Given the description of an element on the screen output the (x, y) to click on. 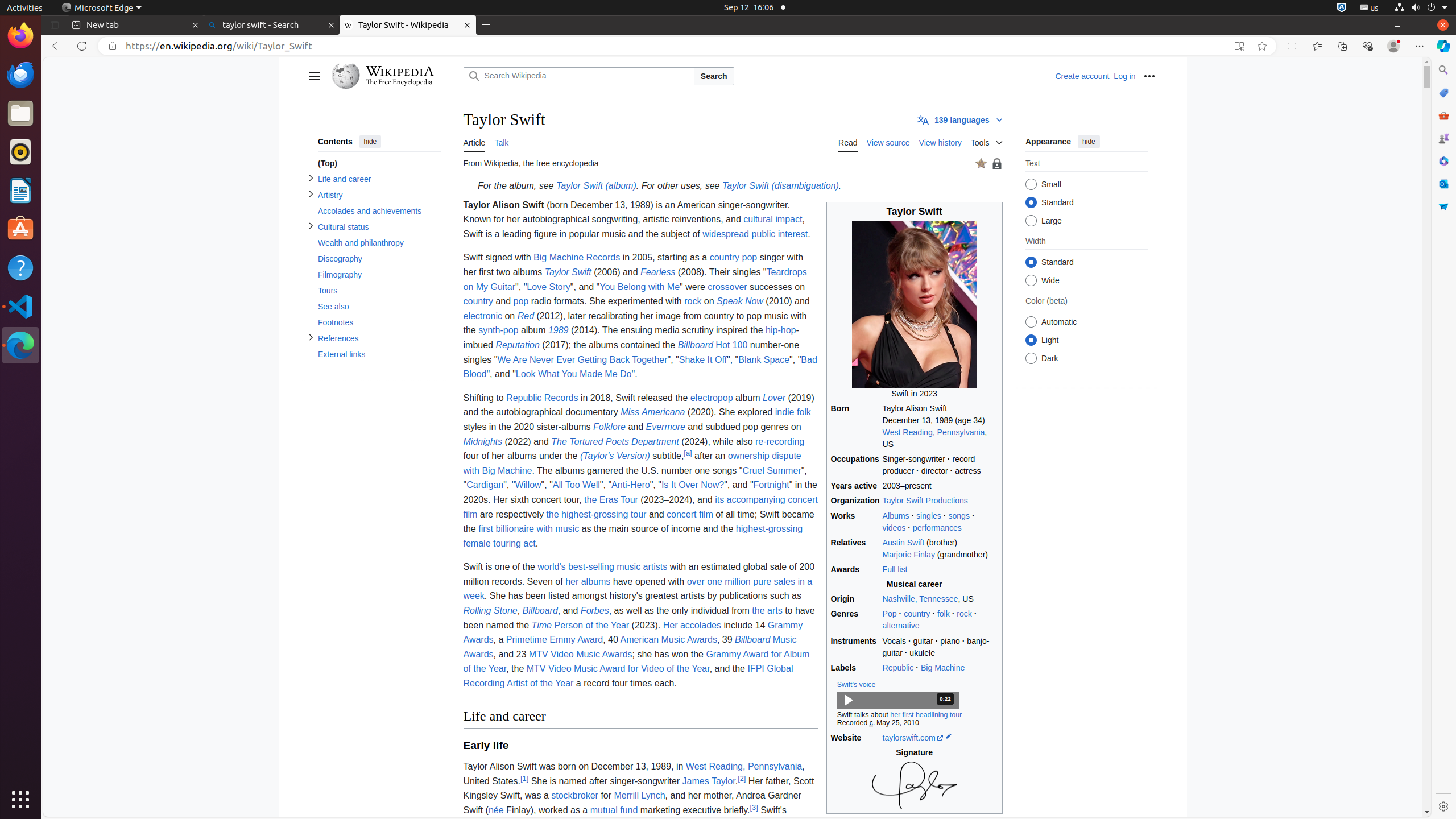
Willow Element type: link (527, 485)
concert film Element type: link (689, 514)
Swift glancing towards her left Element type: link (914, 303)
taylor swift - Search Element type: page-tab (271, 25)
Taylor Swift - Wikipedia Element type: page-tab (407, 25)
